Given the description of an element on the screen output the (x, y) to click on. 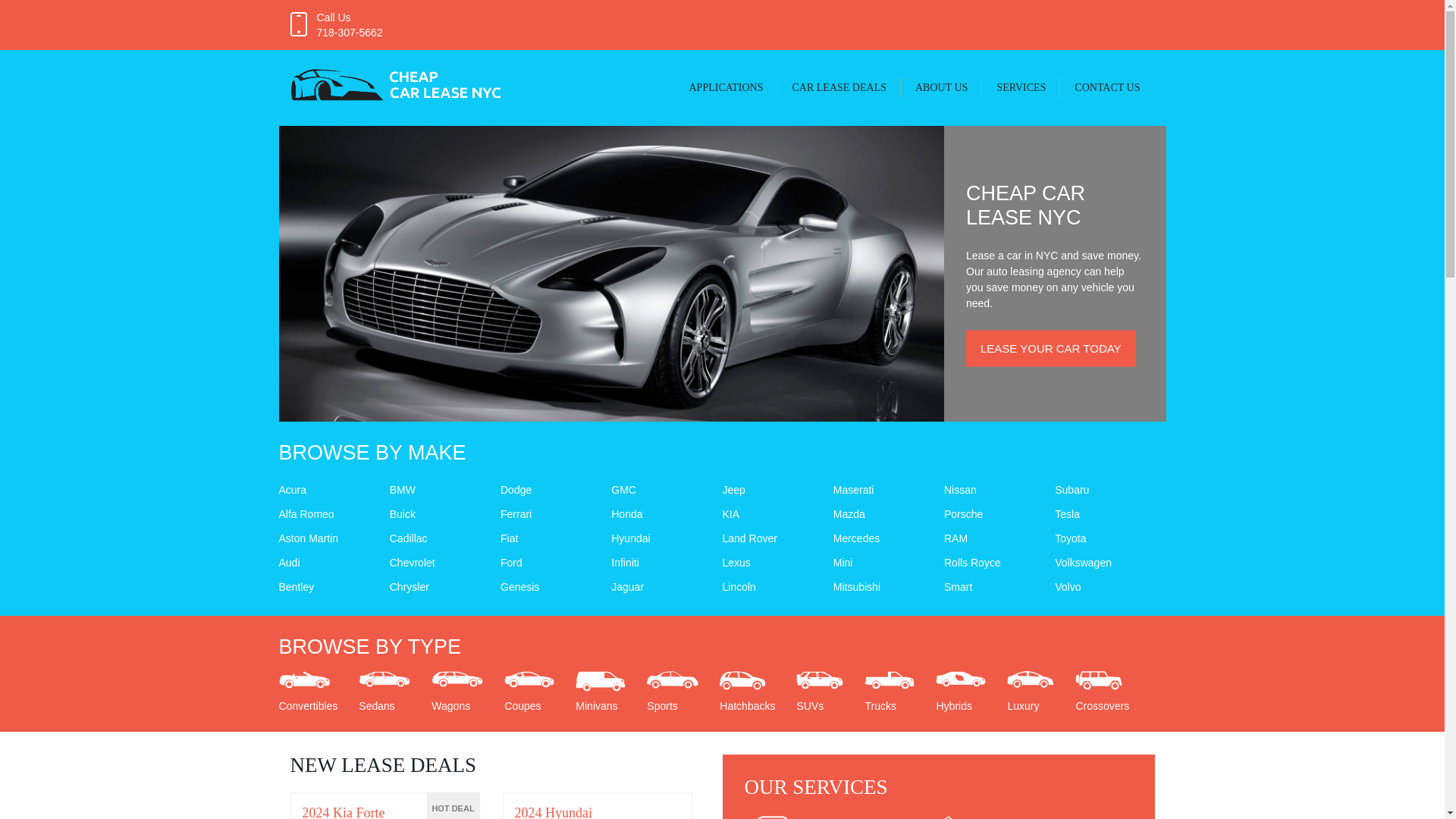
Genesis (519, 586)
Honda (626, 513)
Chevrolet (412, 562)
718-307-5662 (349, 32)
Aston Martin (309, 538)
Jaguar (627, 586)
Ford (511, 562)
Ferrari (515, 513)
LEASE YOUR CAR TODAY (1050, 348)
Jeep (733, 490)
